Given the description of an element on the screen output the (x, y) to click on. 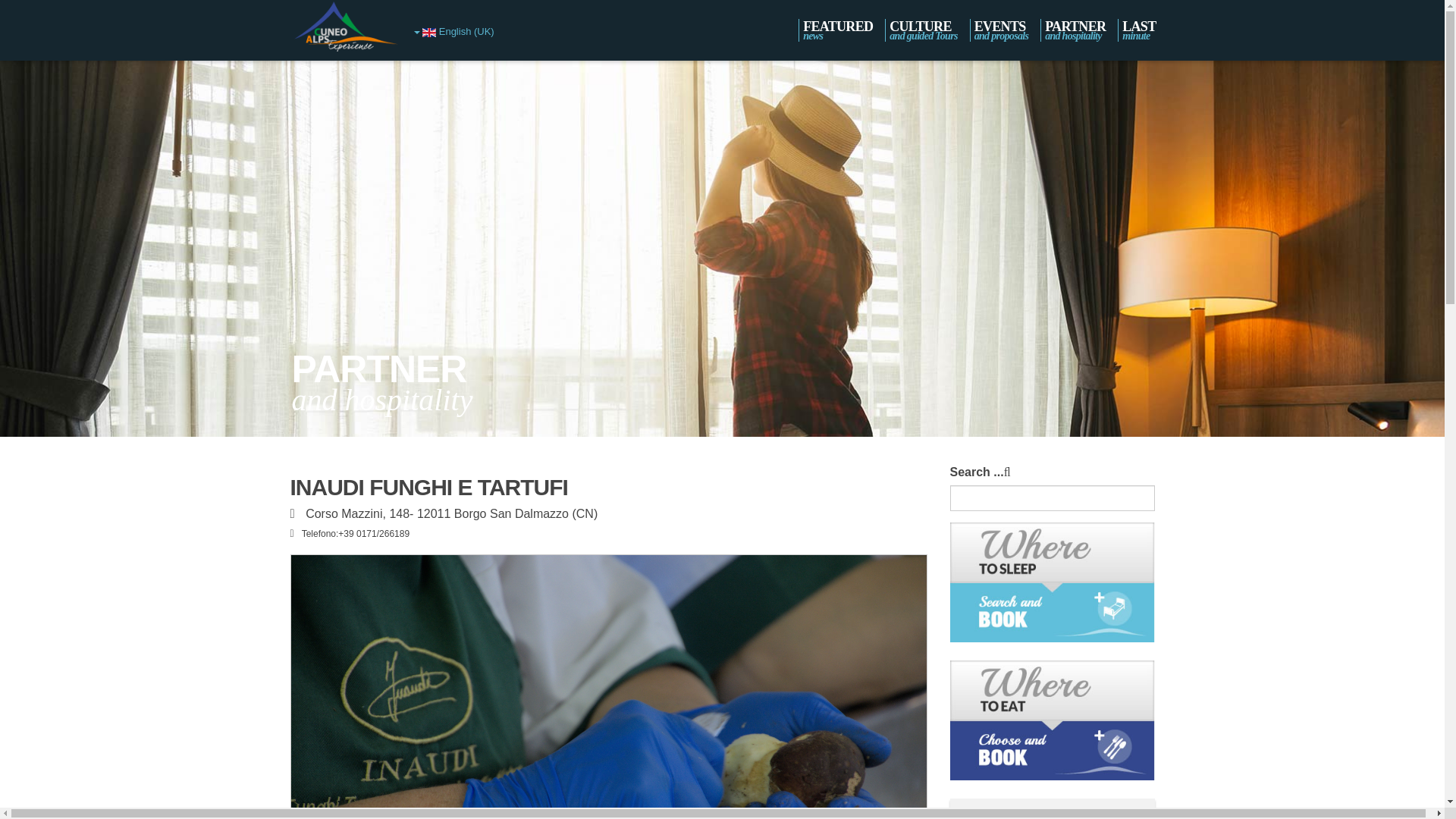
Where to sleep in cuneo, alps (1072, 31)
Piedmont where to eat (1051, 581)
Cuneo Alps (1051, 718)
